Given the description of an element on the screen output the (x, y) to click on. 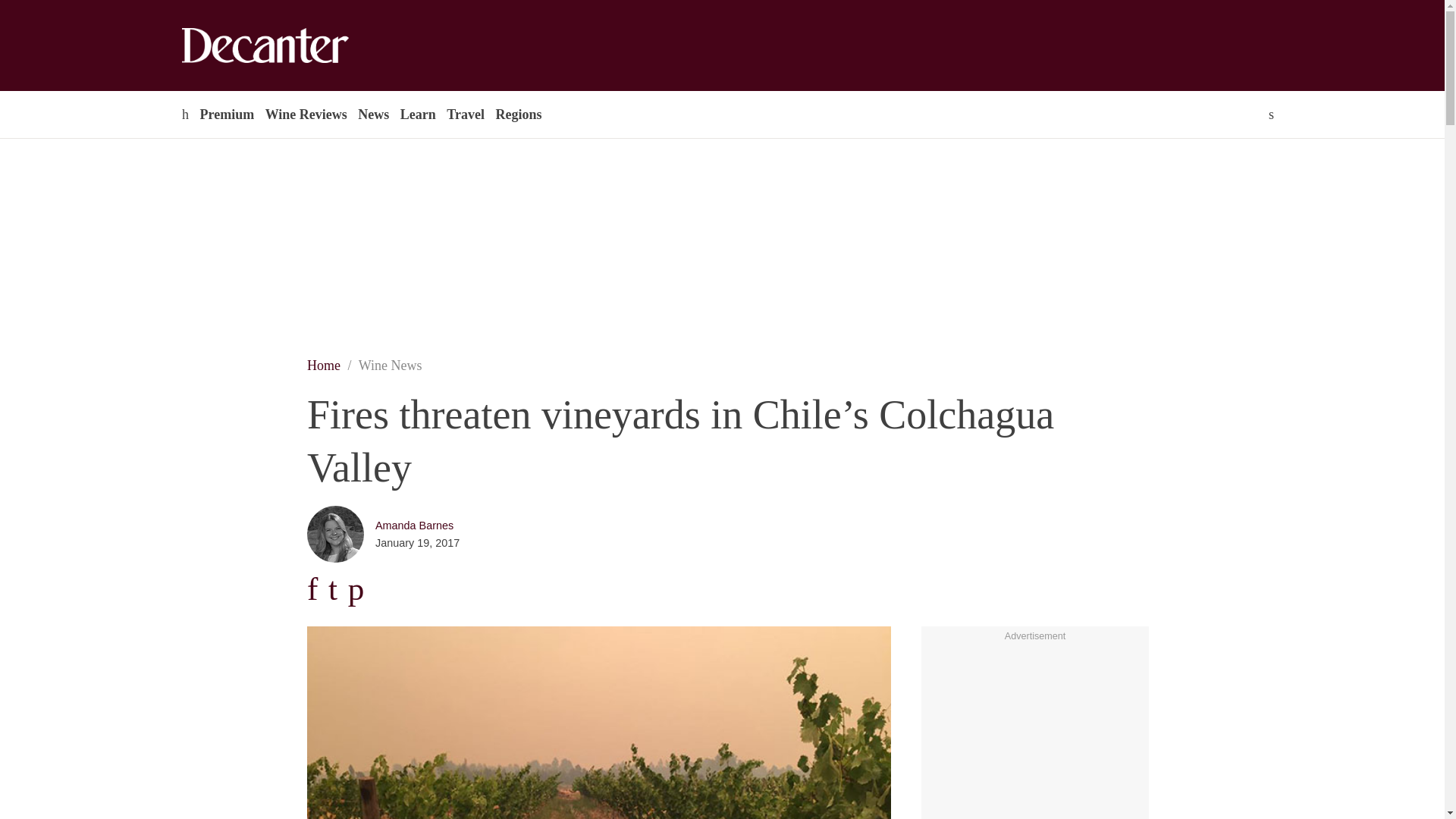
Learn (417, 114)
Wine Reviews (306, 114)
Decanter (297, 45)
Premium (226, 114)
Travel (464, 114)
